Given the description of an element on the screen output the (x, y) to click on. 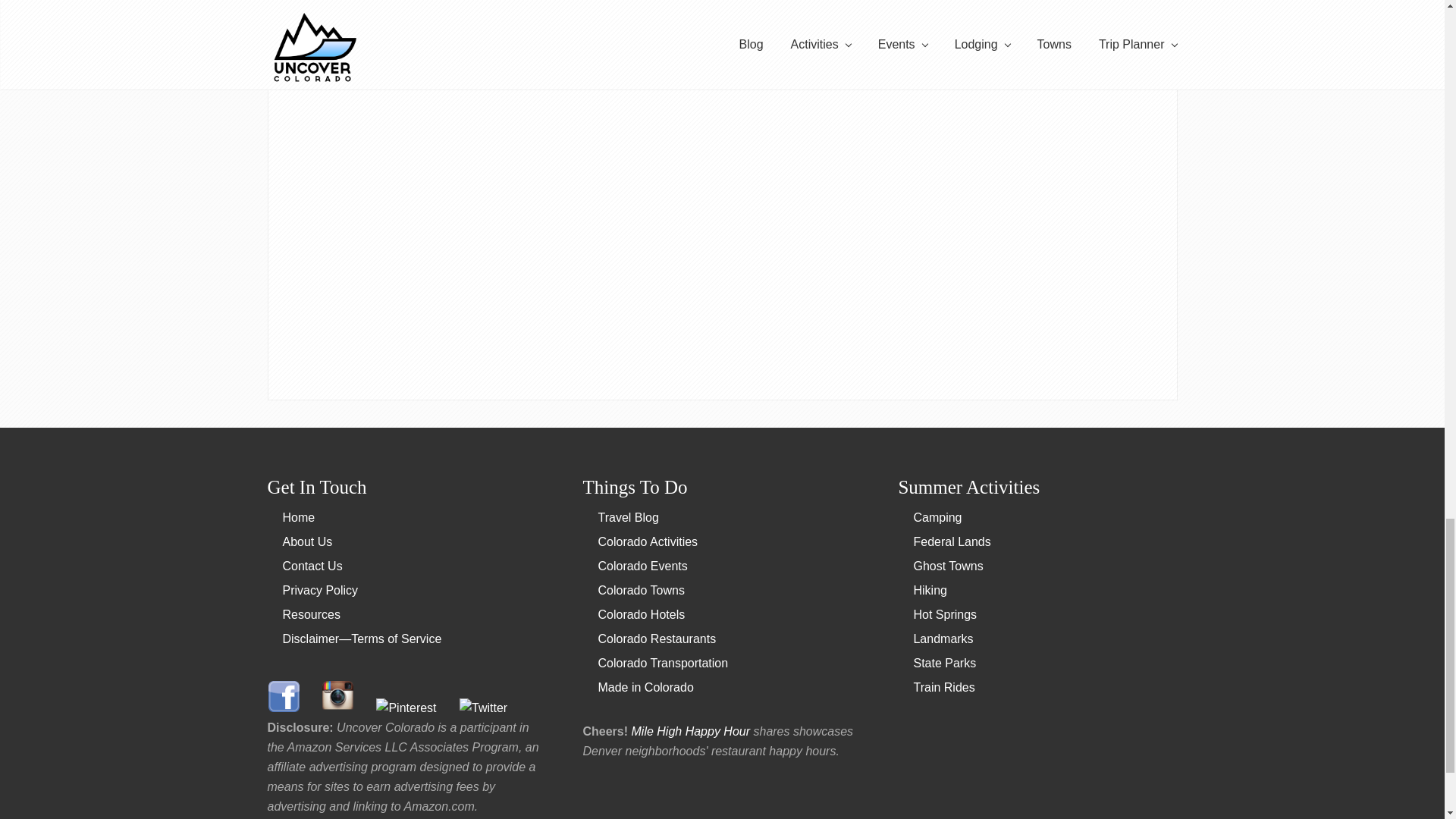
About Uncover Colorado (306, 541)
Colorado Travel Guide (298, 517)
